Given the description of an element on the screen output the (x, y) to click on. 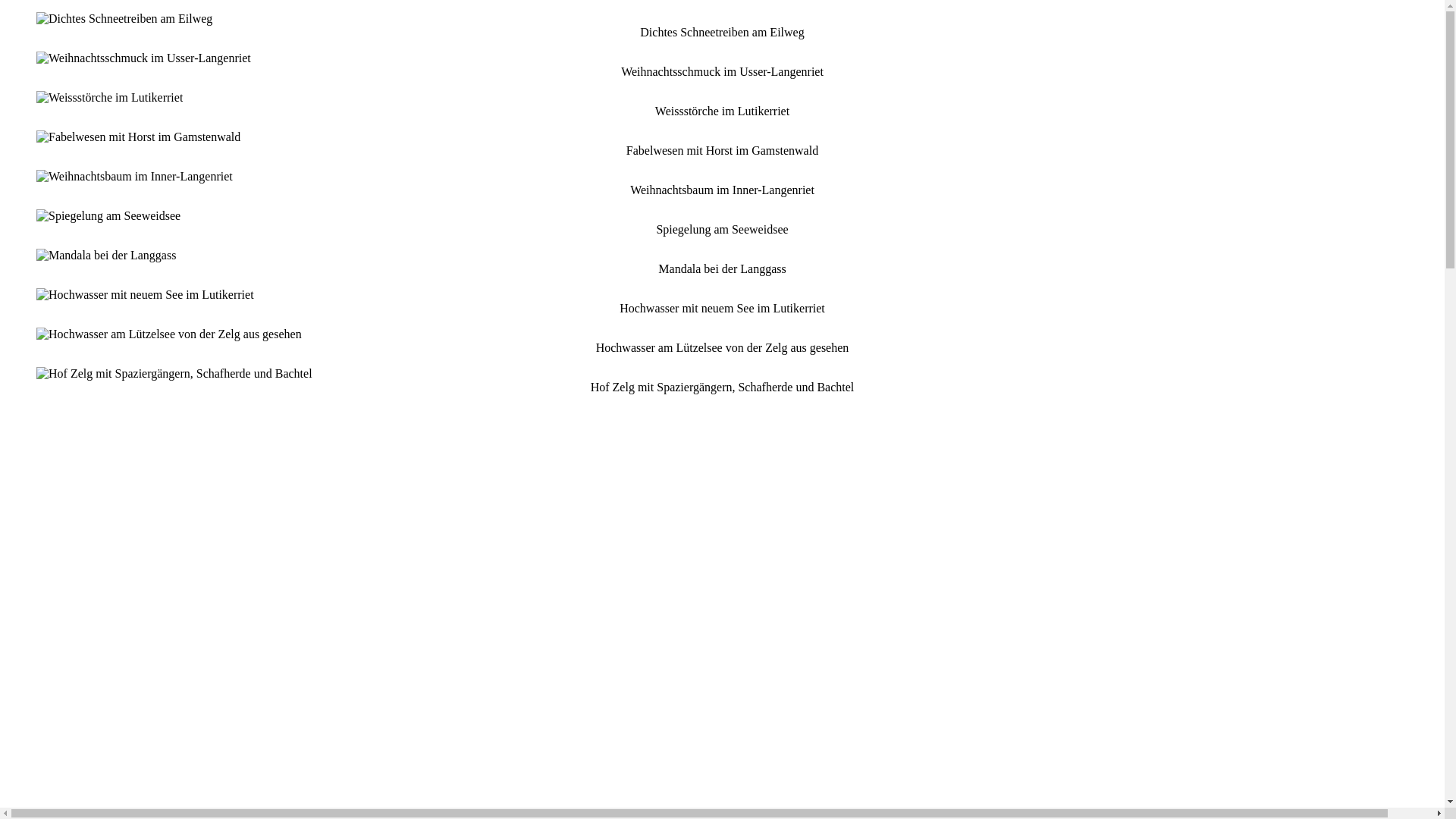
Dichtes Schneetreiben am Eilweg Element type: hover (124, 18)
Spiegelung am Seeweidsee Element type: hover (108, 215)
Fabelwesen mit Horst im Gamstenwald Element type: hover (138, 137)
Mandala bei der Langgass Element type: hover (105, 255)
Weihnachtsbaum im Inner-Langenriet Element type: hover (134, 176)
Weihnachtsschmuck im Usser-Langenriet Element type: hover (143, 58)
Hochwasser mit neuem See im Lutikerriet Element type: hover (145, 294)
